Given the description of an element on the screen output the (x, y) to click on. 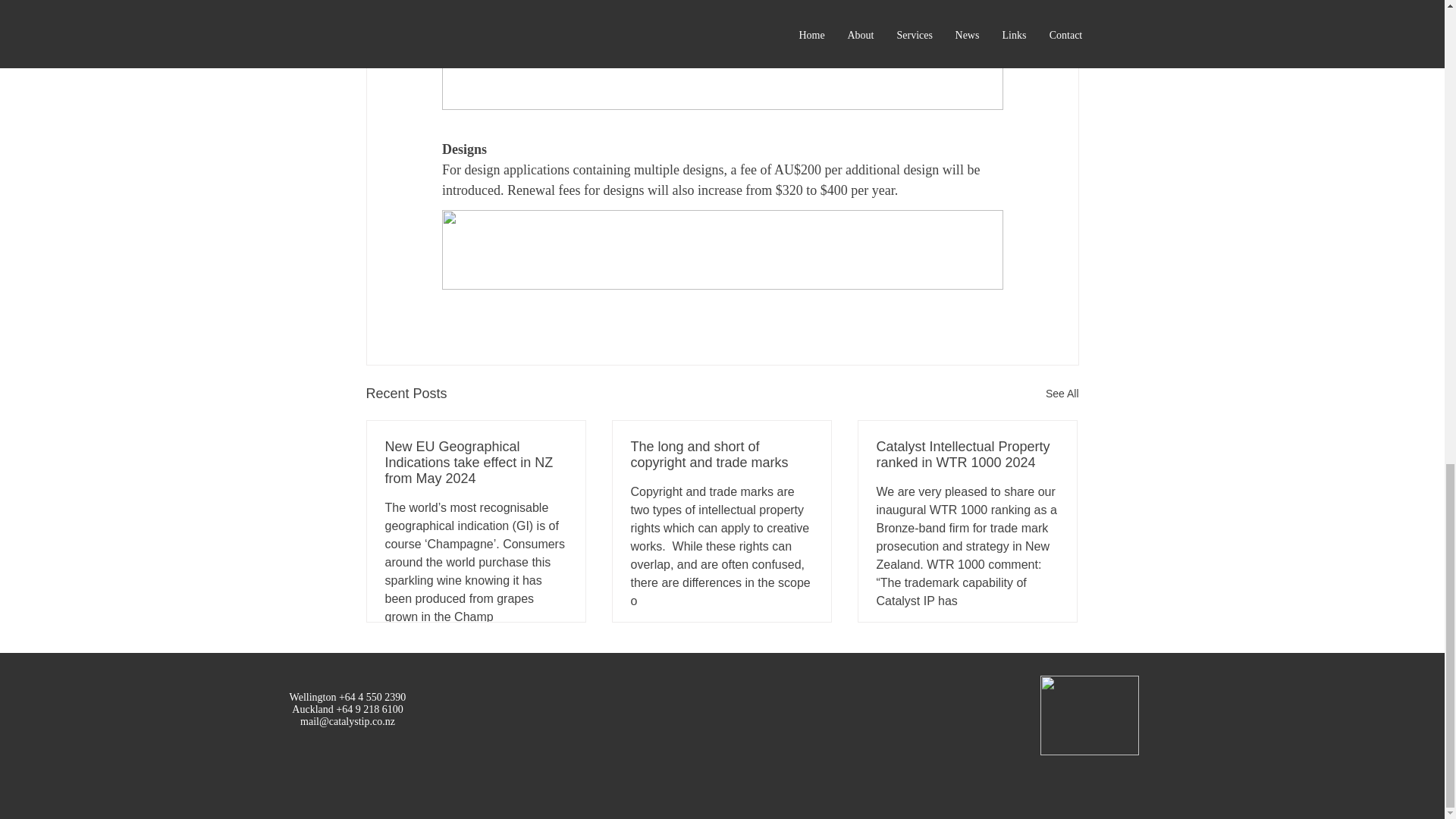
Catalyst Intellectual Property ranked in WTR 1000 2024 (967, 454)
See All (1061, 393)
Asset 1.png (1089, 715)
The long and short of copyright and trade marks (721, 454)
